Given the description of an element on the screen output the (x, y) to click on. 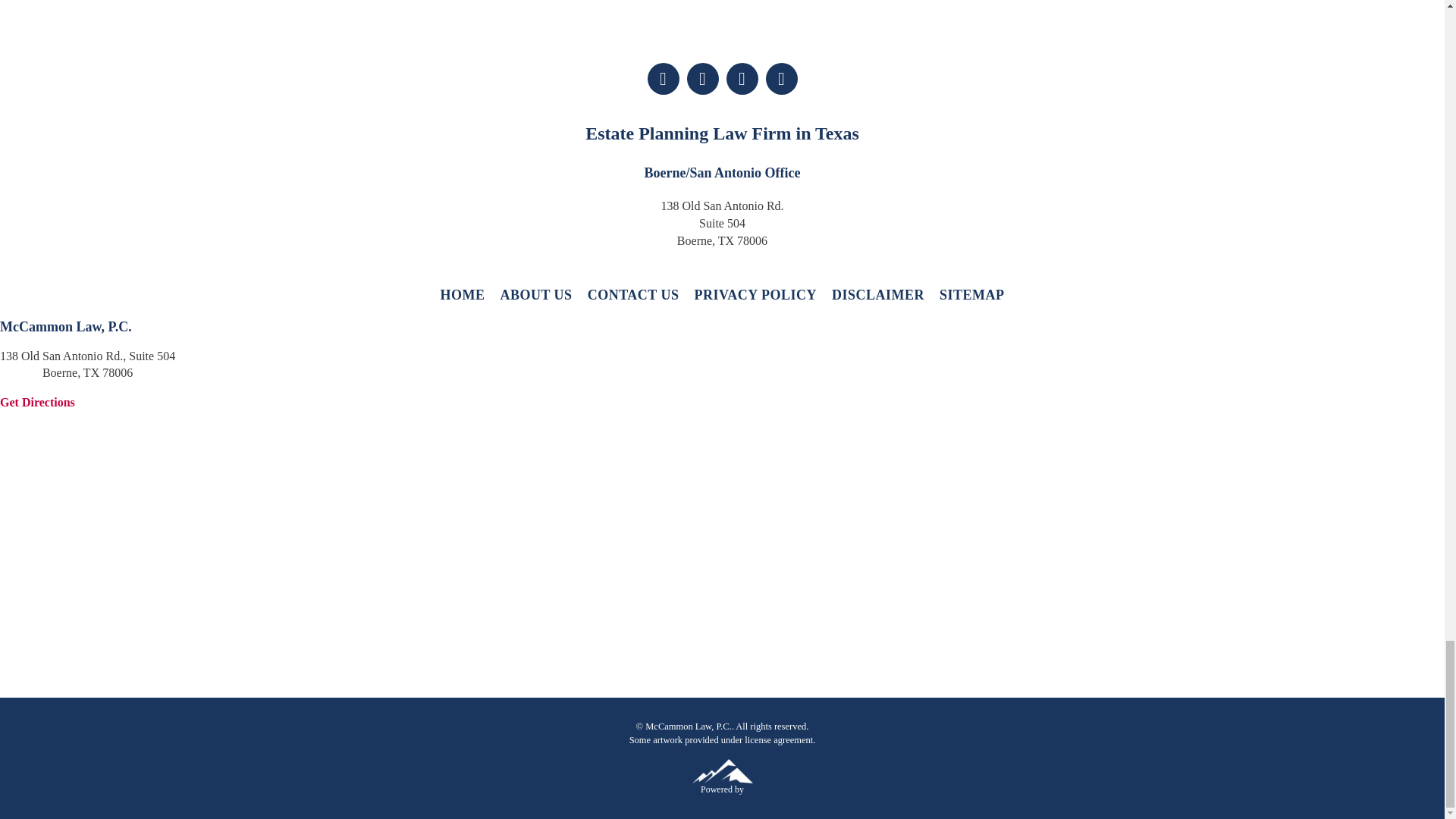
Powered by IMS - Opens New Window (721, 770)
Get Directions (37, 402)
